Given the description of an element on the screen output the (x, y) to click on. 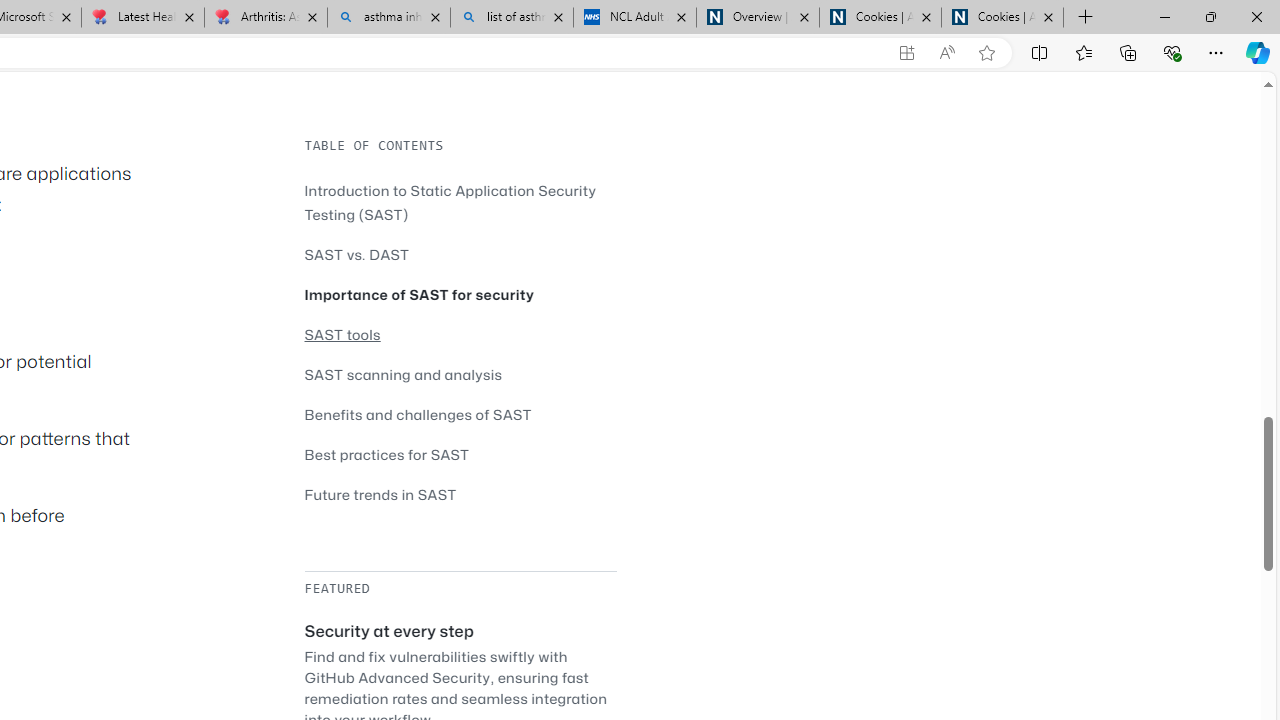
Future trends in SAST (380, 494)
Introduction to Static Application Security Testing (SAST) (460, 201)
Importance of SAST for security (419, 294)
Introduction to Static Application Security Testing (SAST) (450, 202)
